Given the description of an element on the screen output the (x, y) to click on. 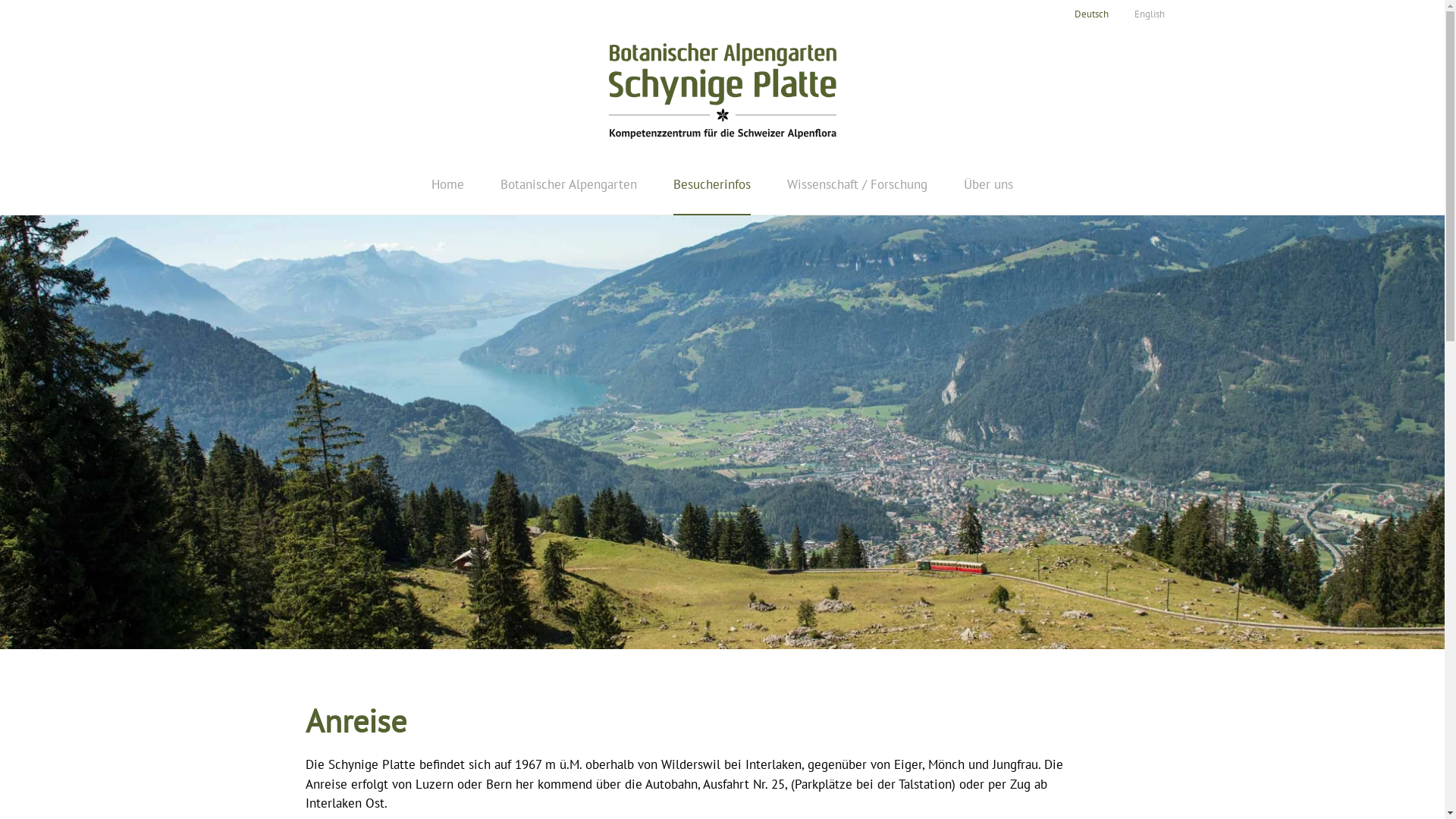
Home Element type: text (447, 183)
Deutsch Element type: text (1090, 14)
Botanischer Alpengarten Element type: text (568, 183)
Wissenschaft / Forschung Element type: text (857, 183)
English Element type: text (1148, 14)
Besucherinfos Element type: text (711, 183)
